Given the description of an element on the screen output the (x, y) to click on. 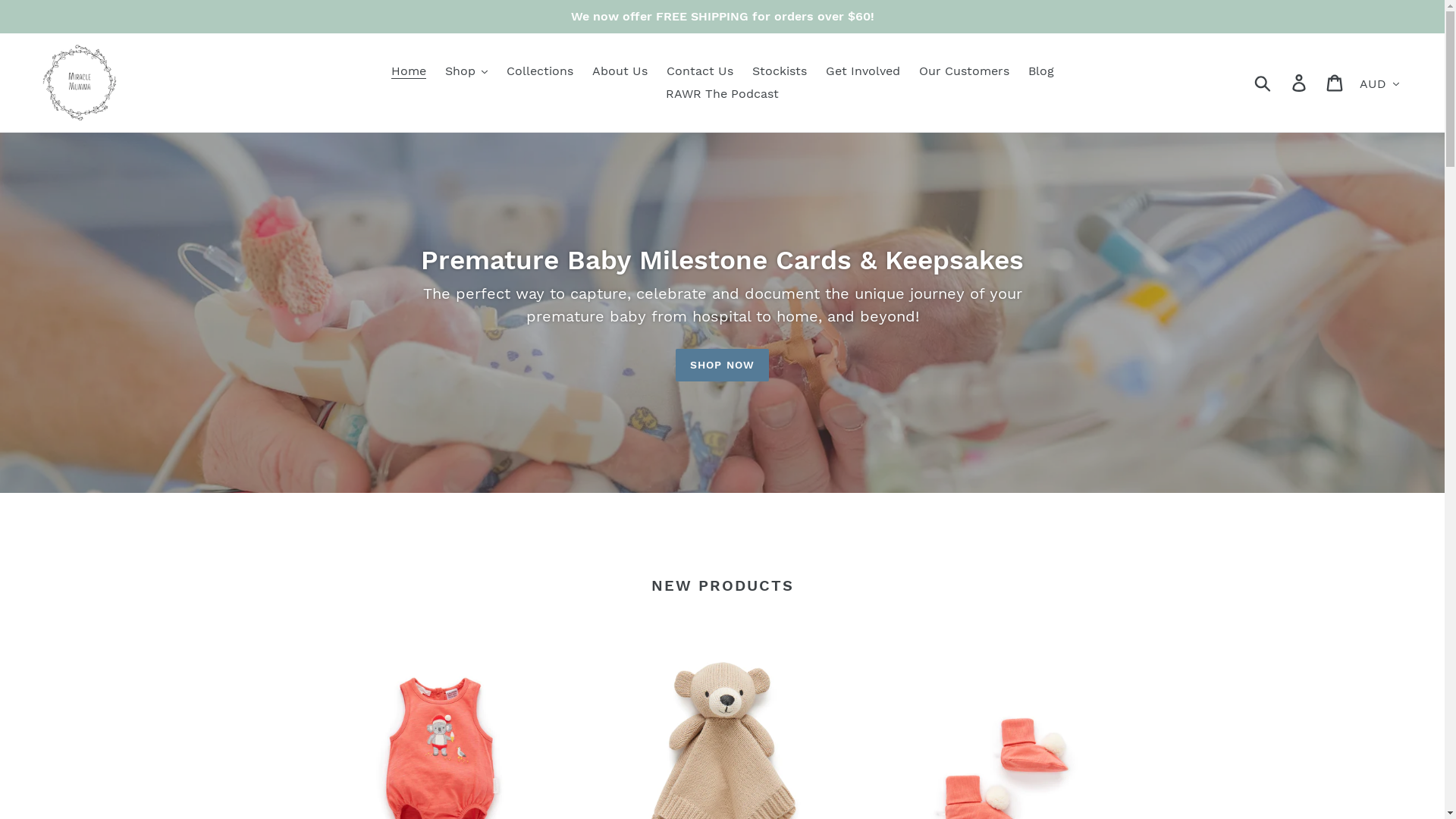
RAWR The Podcast Element type: text (722, 93)
About Us Element type: text (618, 70)
SHOP NOW Element type: text (721, 364)
Collections Element type: text (539, 70)
Blog Element type: text (1040, 70)
Contact Us Element type: text (699, 70)
Home Element type: text (408, 70)
Submit Element type: text (1263, 82)
Get Involved Element type: text (861, 70)
Cart Element type: text (1335, 82)
Our Customers Element type: text (963, 70)
Stockists Element type: text (779, 70)
Log in Element type: text (1299, 82)
